Given the description of an element on the screen output the (x, y) to click on. 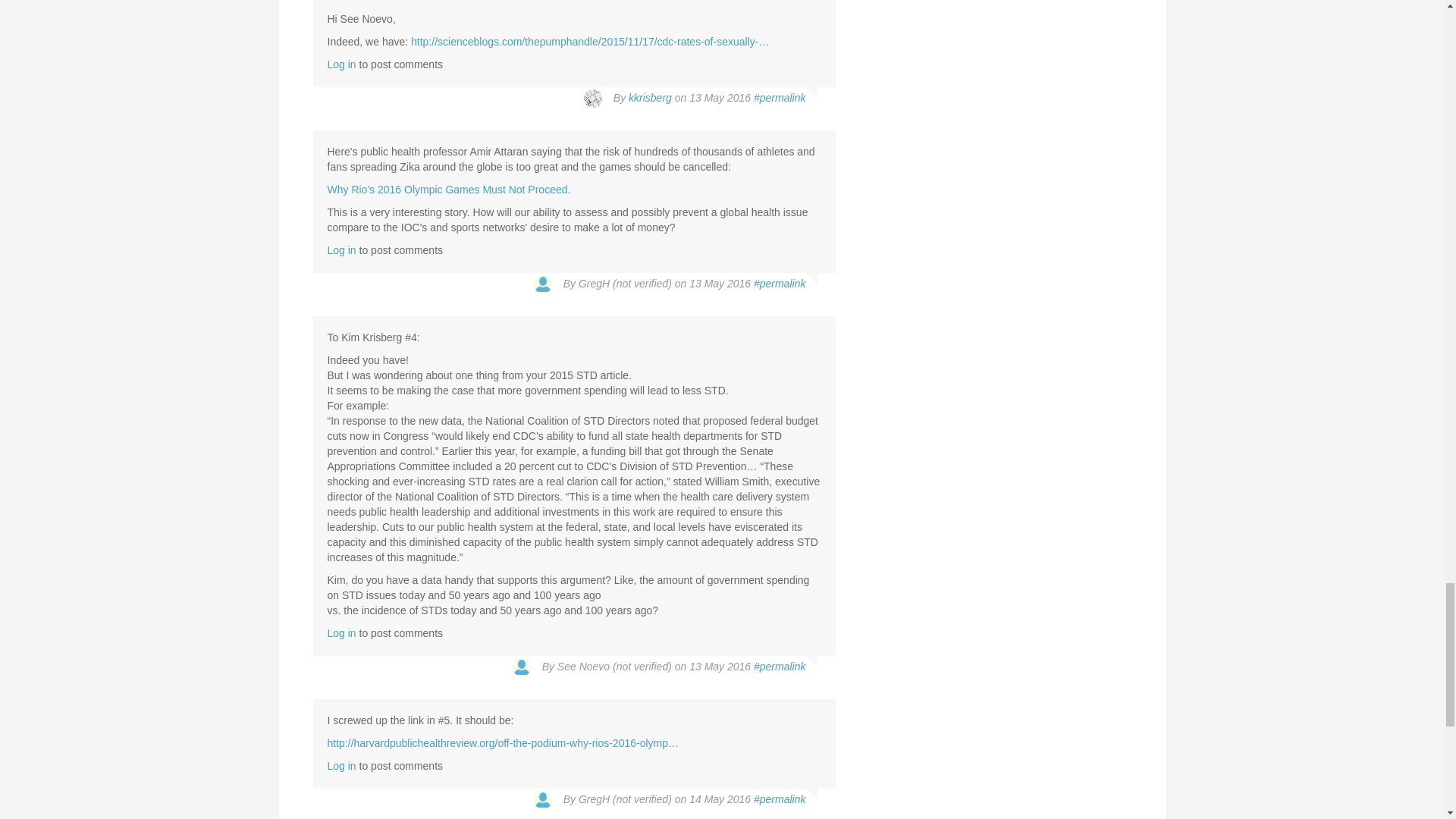
View user profile. (649, 97)
